Given the description of an element on the screen output the (x, y) to click on. 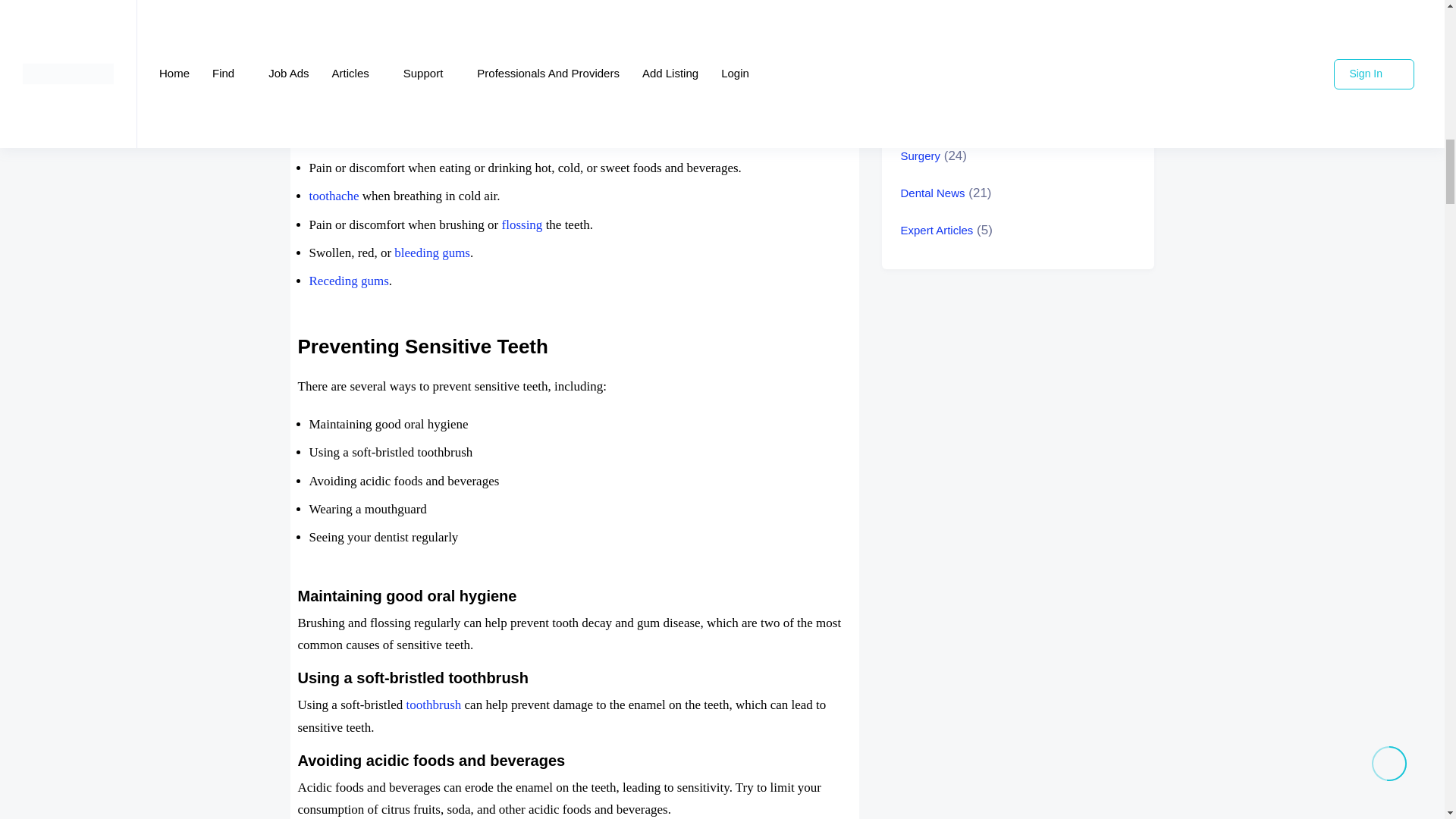
flossing (522, 224)
toothache (333, 196)
toothbrush (433, 704)
bleeding gums (432, 252)
Receding gums (348, 280)
